Given the description of an element on the screen output the (x, y) to click on. 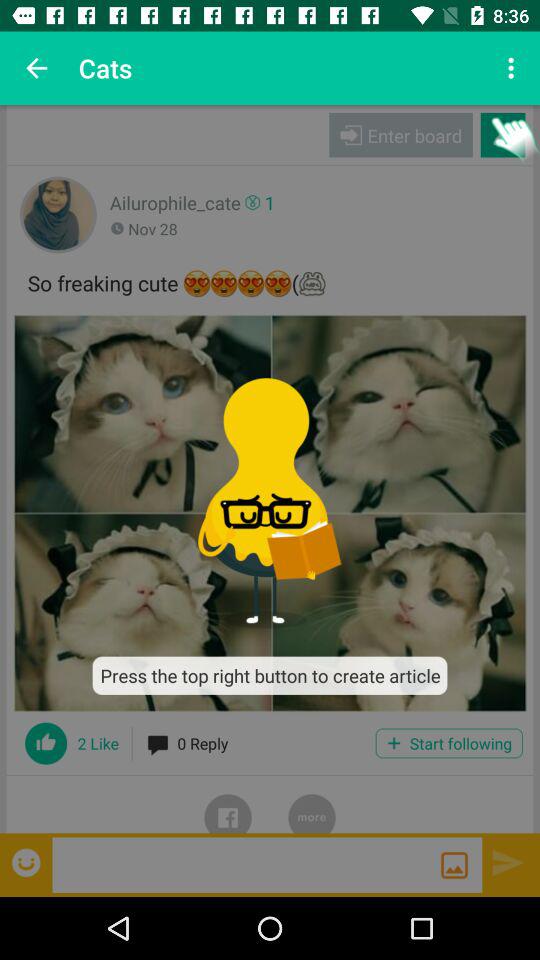
open the icon next to cats (513, 67)
